Given the description of an element on the screen output the (x, y) to click on. 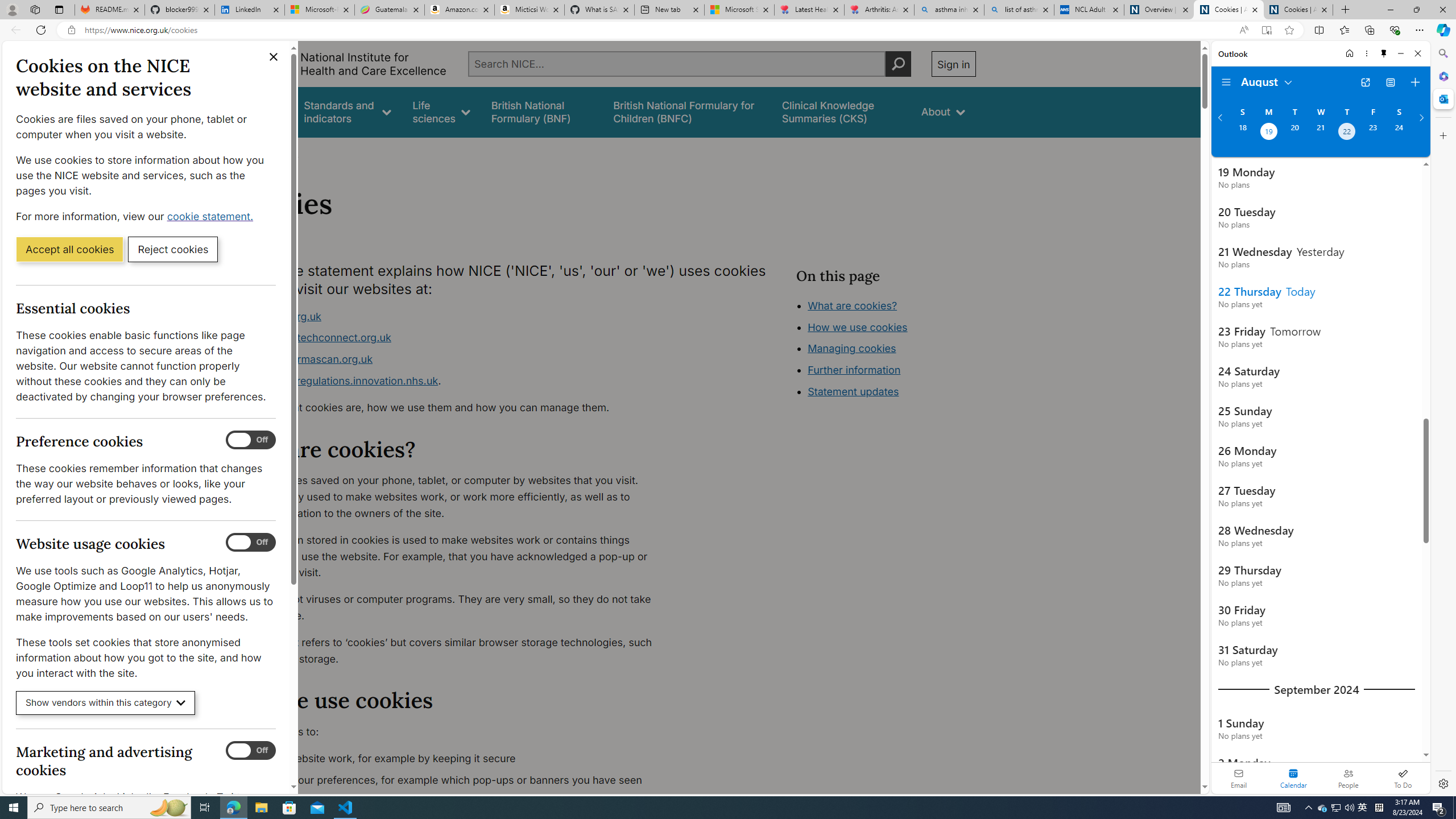
Further information (854, 369)
What are cookies? (852, 305)
Unpin side pane (1383, 53)
More options (1366, 53)
www.ukpharmascan.org.uk (305, 359)
Preference cookies (250, 439)
Guidance (260, 111)
Cookies | About | NICE (1297, 9)
How we use cookies (896, 389)
